Given the description of an element on the screen output the (x, y) to click on. 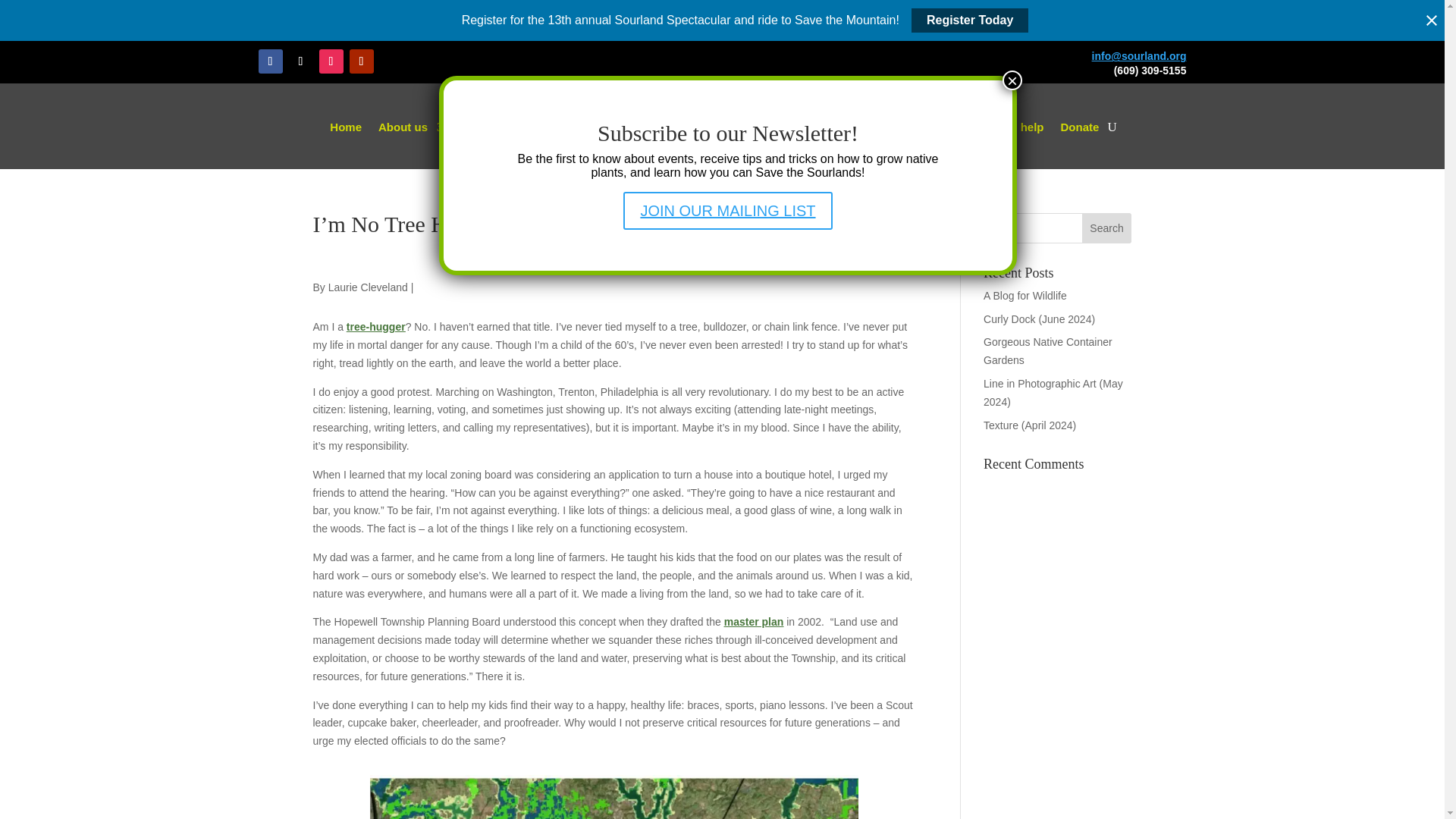
Follow on X (300, 61)
tree-hugger (376, 326)
Follow on Instagram (330, 61)
Follow on Facebook (269, 61)
Stewardship Projects (842, 127)
Search (1106, 227)
The Sourlands (506, 127)
Register Today (969, 20)
Follow on Youtube (360, 61)
